Given the description of an element on the screen output the (x, y) to click on. 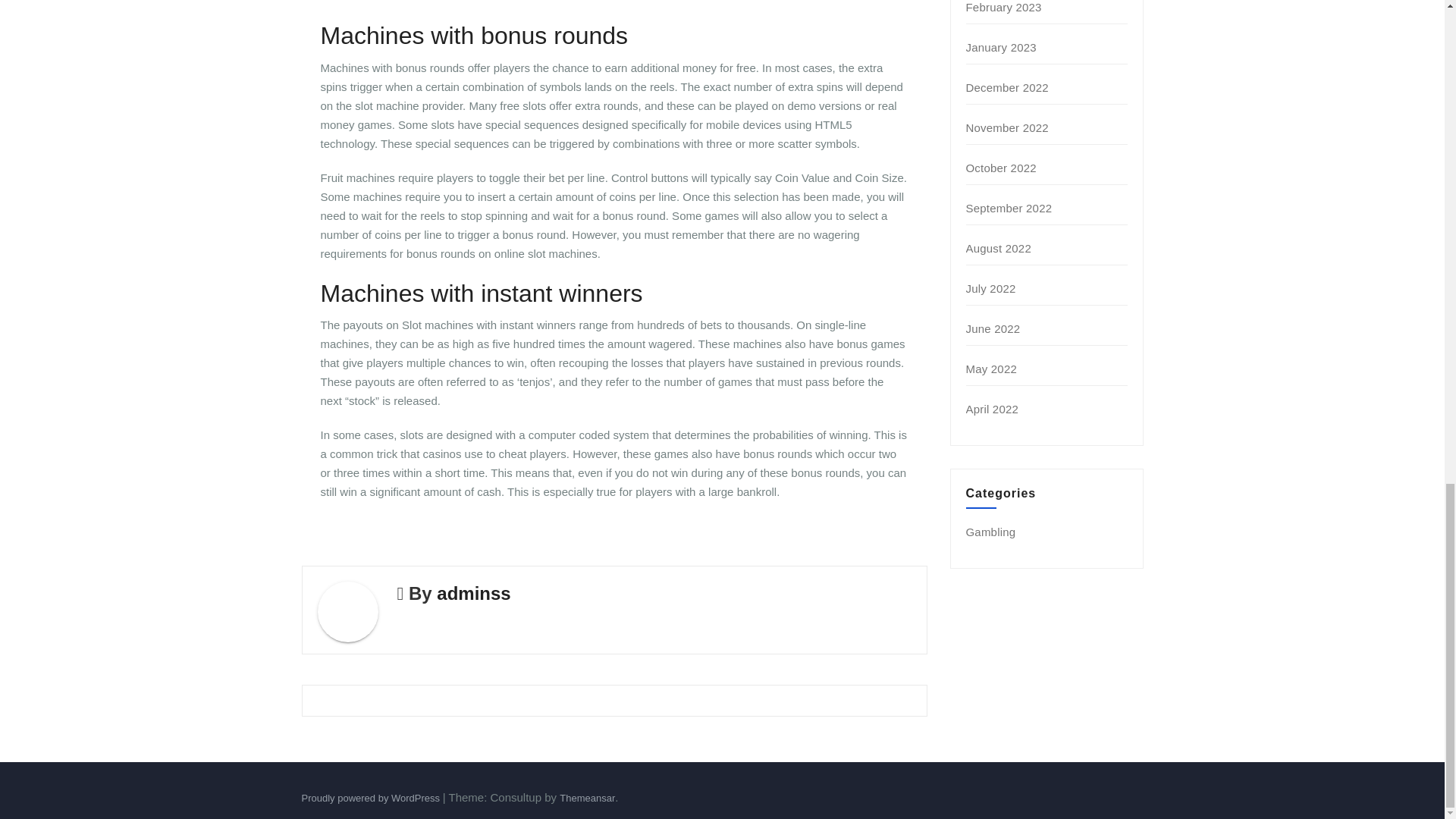
Proudly powered by WordPress (371, 797)
Gambling (991, 531)
August 2022 (998, 247)
adminss (473, 593)
April 2022 (992, 408)
January 2023 (1001, 47)
September 2022 (1009, 207)
Themeansar (586, 797)
May 2022 (991, 368)
July 2022 (991, 287)
